Given the description of an element on the screen output the (x, y) to click on. 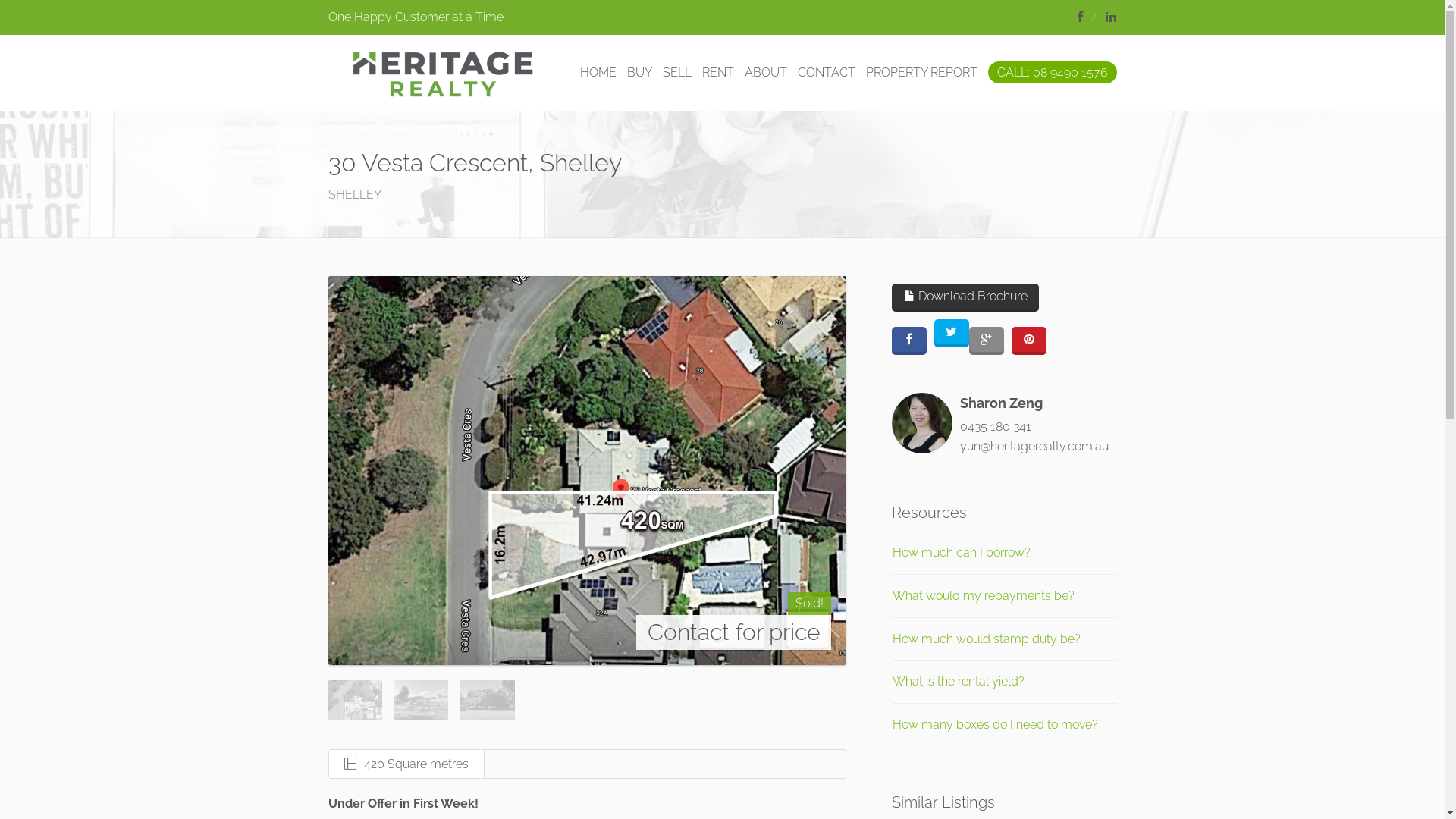
BUY Element type: text (638, 72)
ABOUT Element type: text (765, 72)
Sold! Element type: text (809, 603)
What would my repayments be? Element type: text (983, 595)
What is the rental yield? Element type: text (958, 681)
SELL Element type: text (676, 72)
Download Brochure Element type: text (964, 297)
yun@heritagerealty.com.au Element type: text (1034, 446)
0435 180 341 Element type: text (995, 426)
CONTACT Element type: text (826, 72)
30 Vesta Crescent, Shelley Element type: hover (586, 469)
PROPERTY REPORT Element type: text (921, 72)
How much can I borrow? Element type: text (961, 552)
CALL: 08 9490 1576 Element type: text (1051, 72)
How many boxes do I need to move? Element type: text (995, 724)
SHELLEY Element type: text (353, 194)
How much would stamp duty be? Element type: text (986, 638)
HOME Element type: text (597, 72)
RENT Element type: text (718, 72)
